Given the description of an element on the screen output the (x, y) to click on. 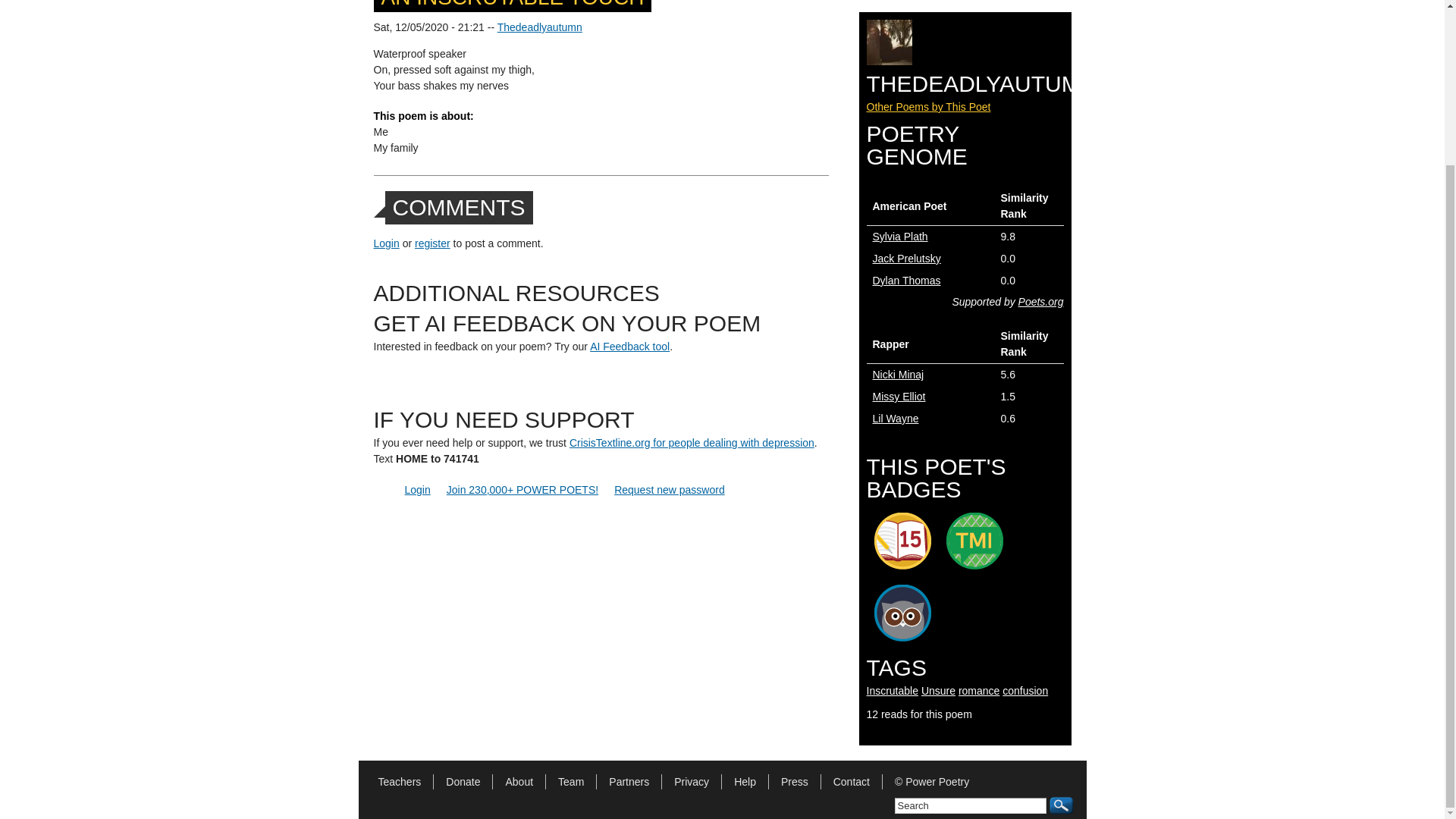
Search (970, 805)
Thedeadlyautumn (539, 27)
